Given the description of an element on the screen output the (x, y) to click on. 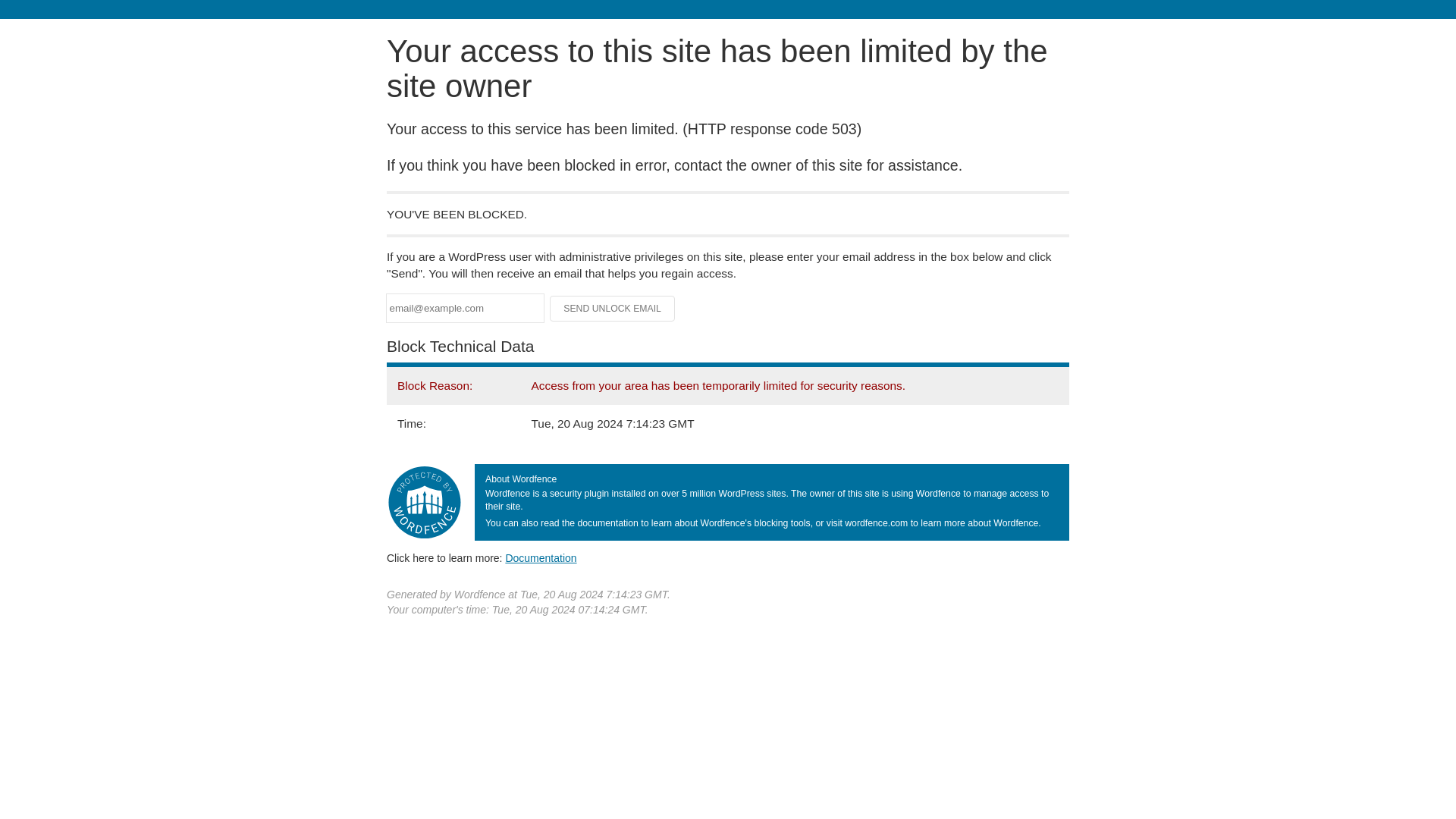
Documentation (540, 558)
Send Unlock Email (612, 308)
Send Unlock Email (612, 308)
